Given the description of an element on the screen output the (x, y) to click on. 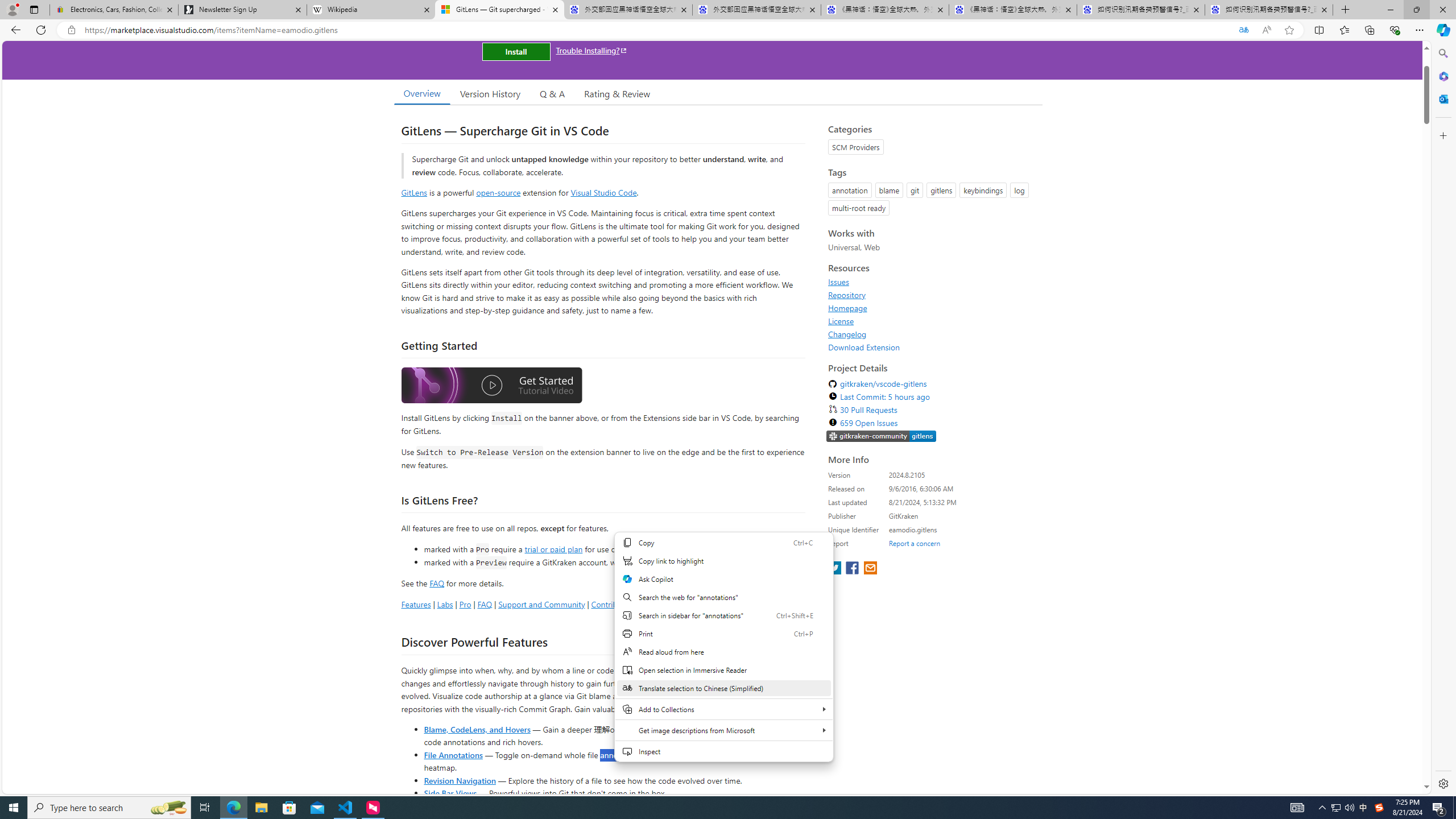
Issues (838, 281)
Repository (931, 294)
Open selection in Immersive Reader (723, 669)
Side Bar Views (449, 792)
Ask Copilot (723, 579)
Download Extension (863, 346)
Install (515, 51)
Issues (931, 281)
Features (415, 603)
